Given the description of an element on the screen output the (x, y) to click on. 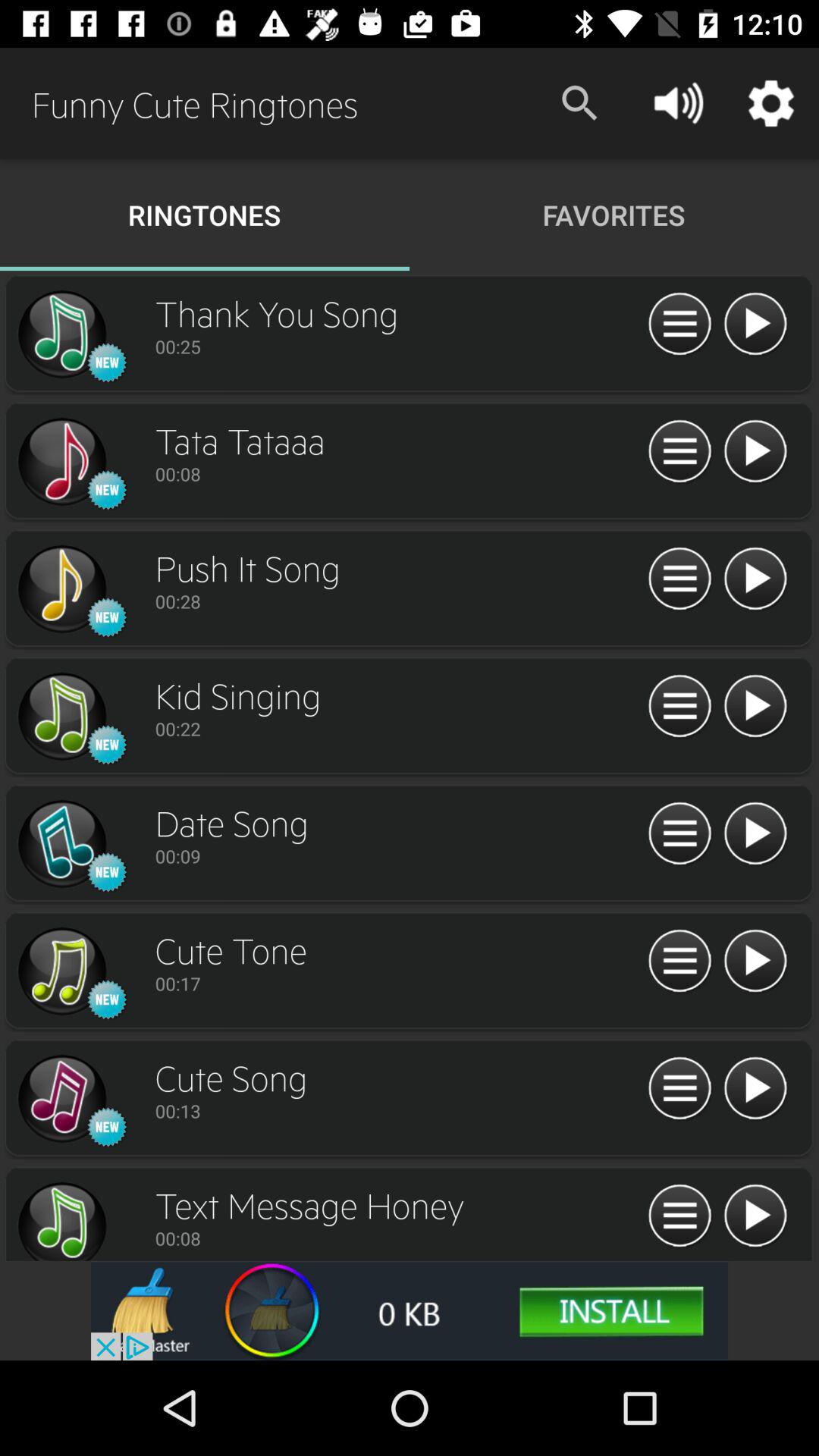
song (61, 334)
